Given the description of an element on the screen output the (x, y) to click on. 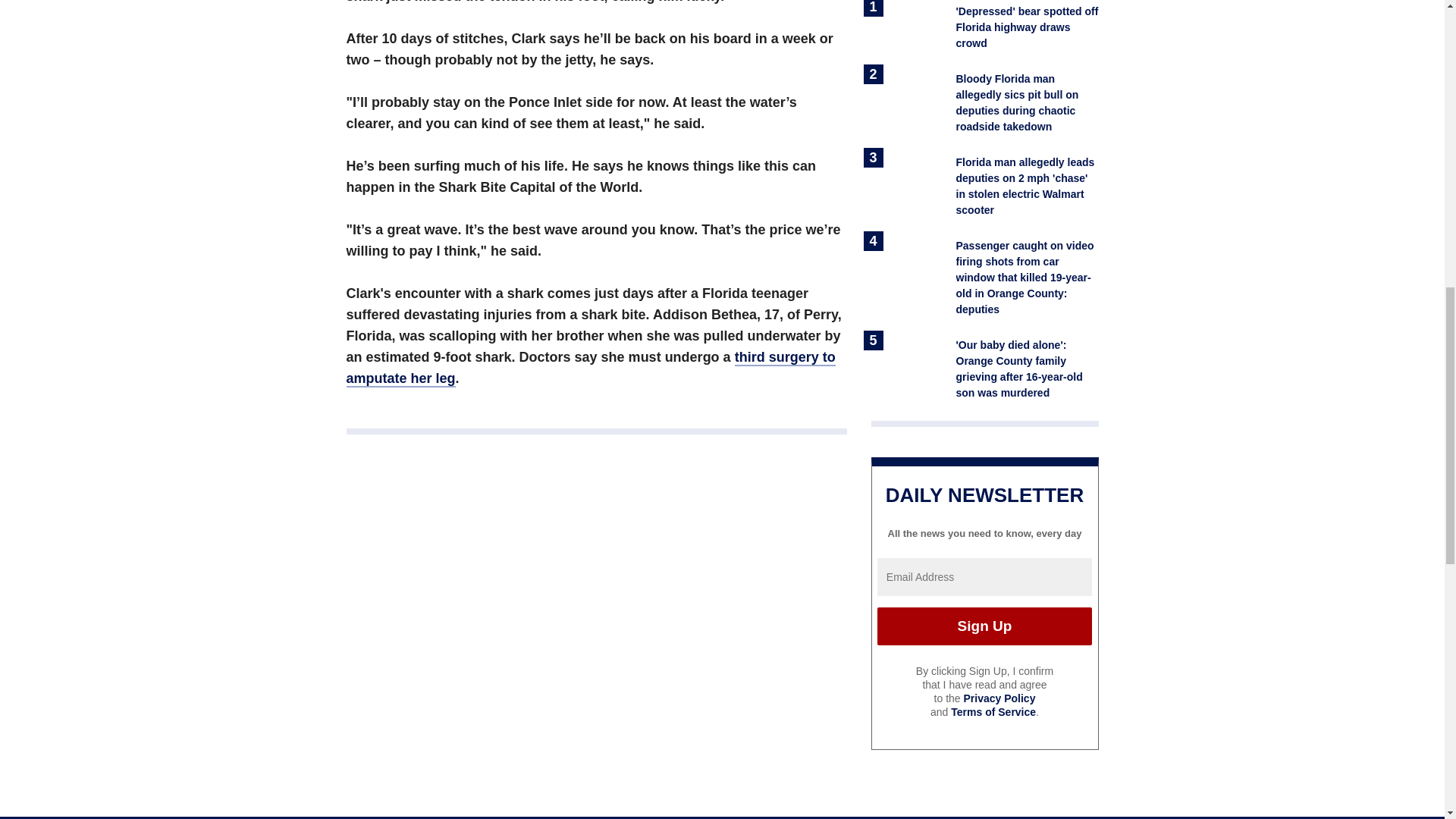
Sign Up (984, 626)
